Given the description of an element on the screen output the (x, y) to click on. 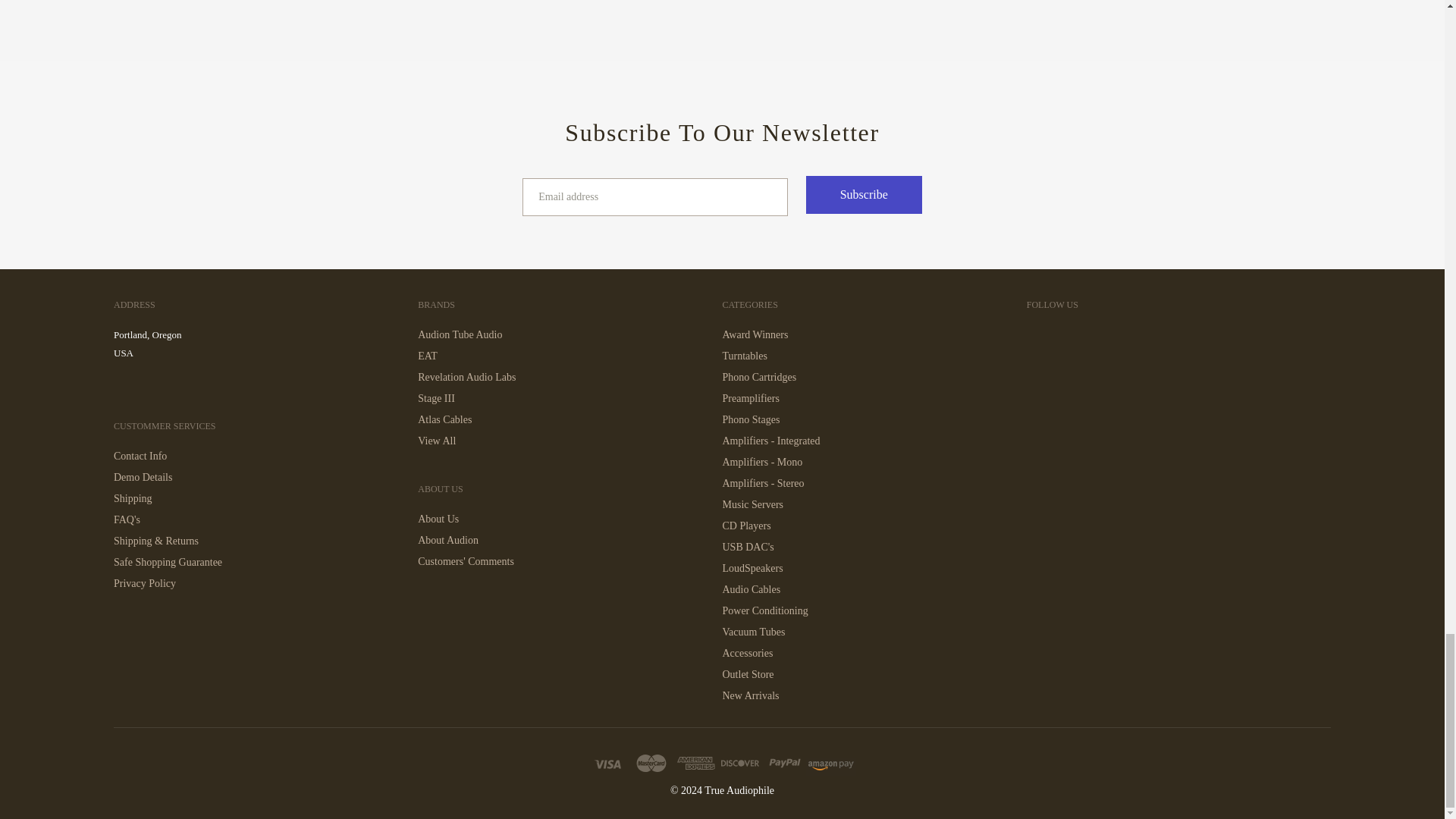
Subscribe (863, 194)
True Audiophile Policies (155, 541)
About True Audiophile (437, 519)
True Audiophile customer comments (465, 562)
True Audiophile Shipping Info (132, 499)
